Given the description of an element on the screen output the (x, y) to click on. 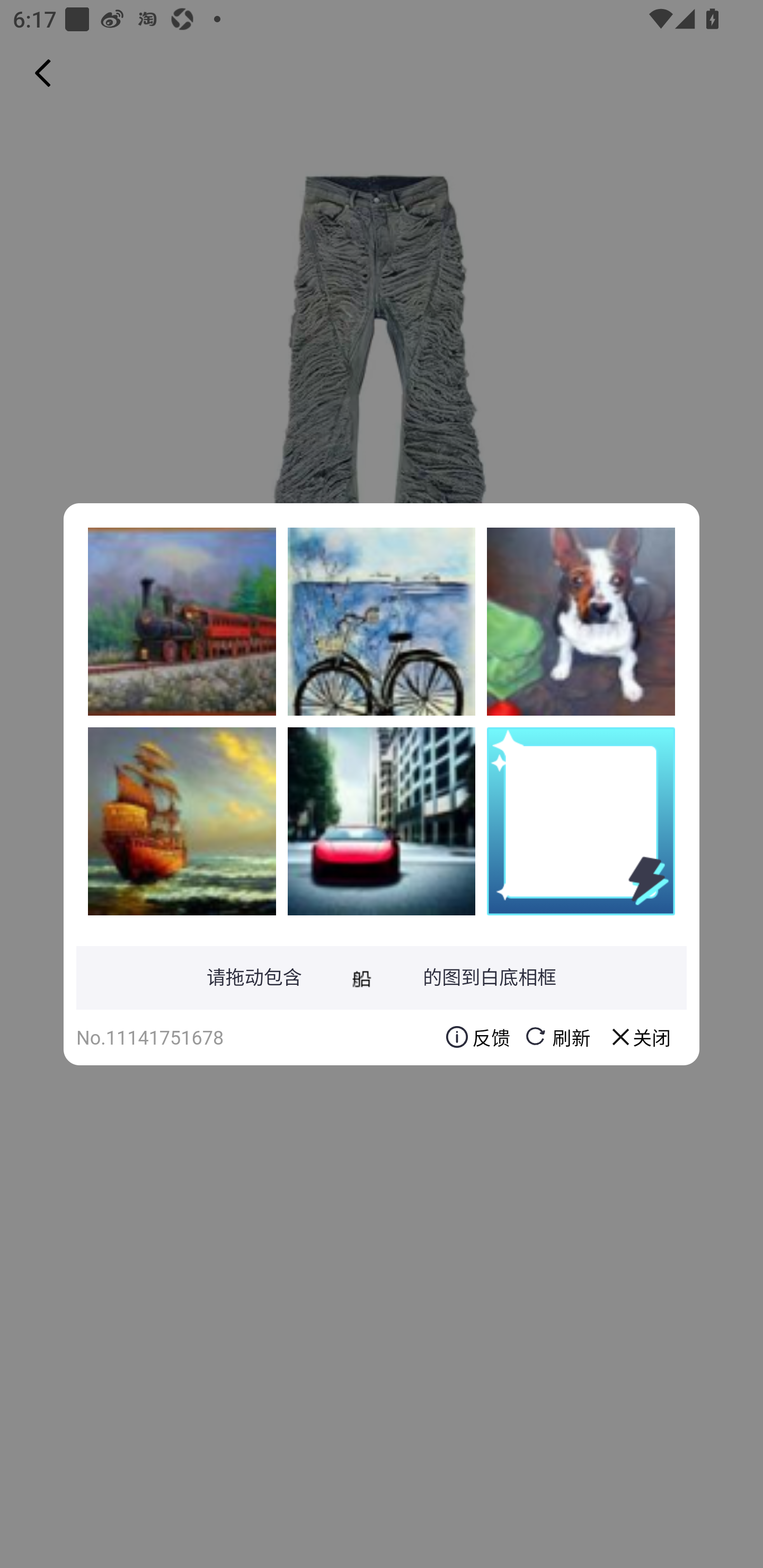
P (580, 621)
9+VUY+EPqNz4KC2 (381, 820)
